Given the description of an element on the screen output the (x, y) to click on. 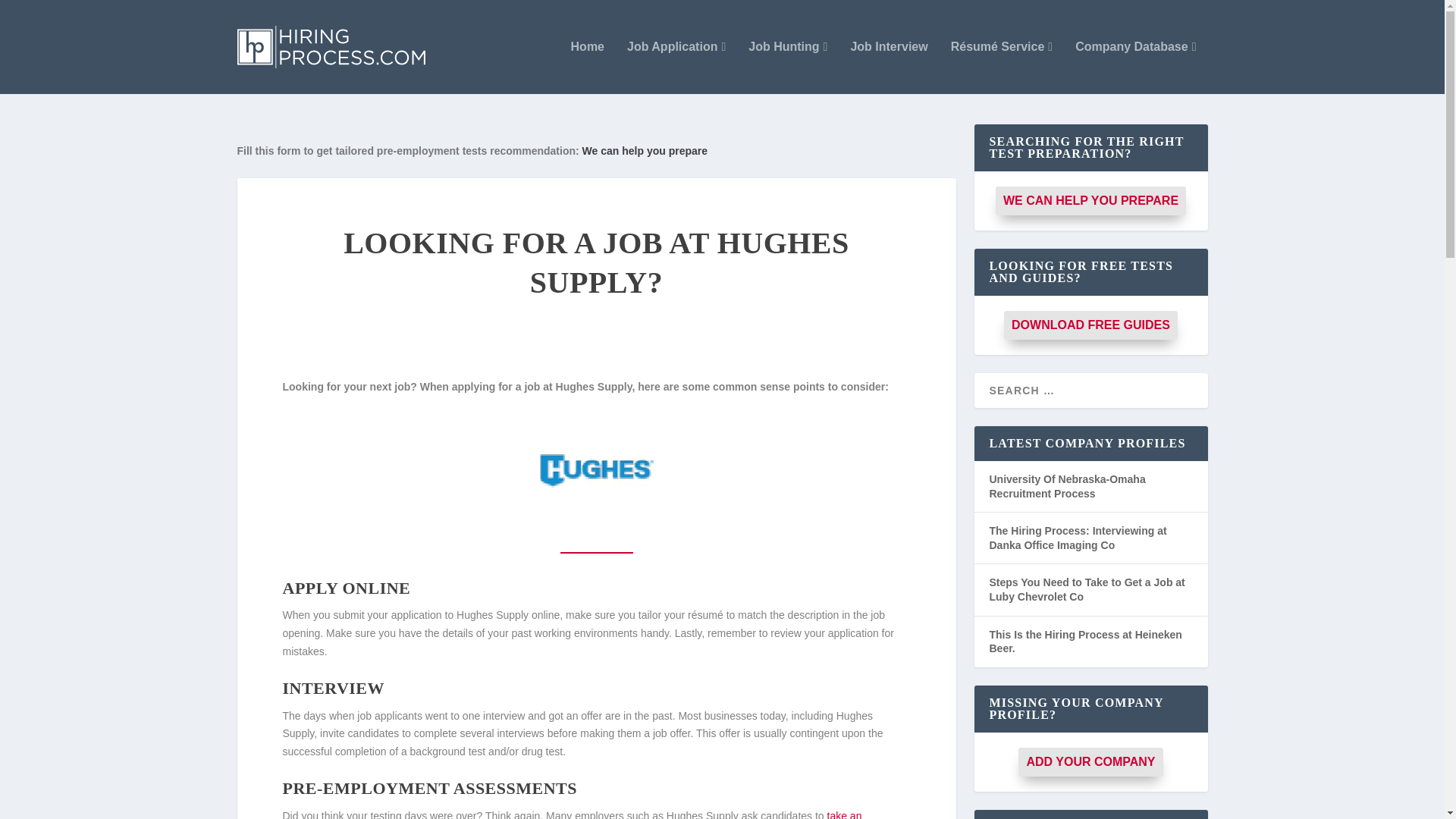
We can help you prepare (644, 150)
take an assessment (571, 814)
Job Hunting (787, 67)
Company Database (1135, 67)
take an assessment (571, 814)
Job Application (676, 67)
Job Interview (888, 67)
